Given the description of an element on the screen output the (x, y) to click on. 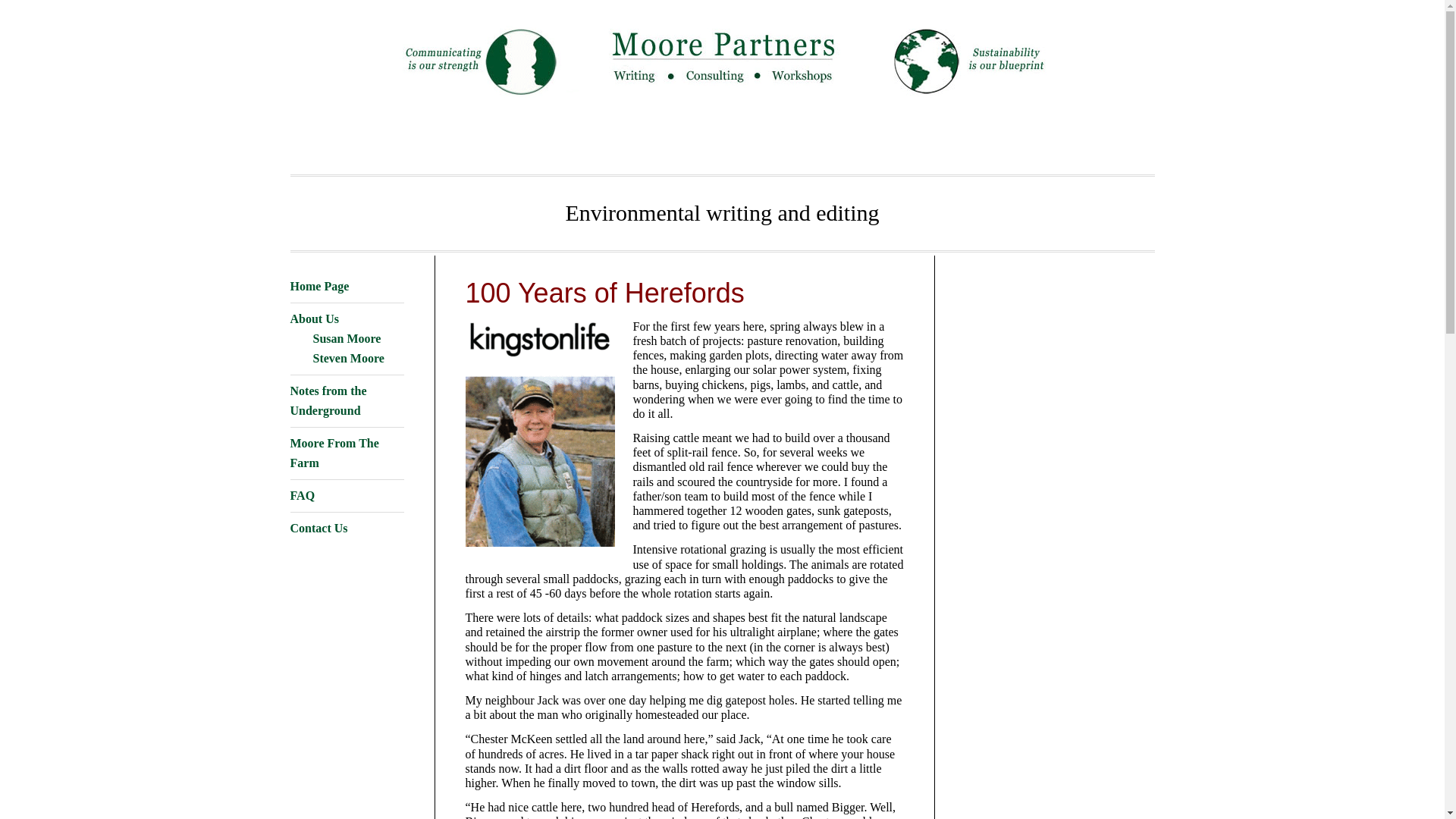
Moore From The Farm (333, 452)
Home Page (319, 286)
About Us (313, 318)
Notes from the Underground (327, 400)
FAQ (301, 495)
Susan Moore (346, 338)
Steven Moore (348, 358)
MOORE PARTNERS (721, 56)
Contact Us (318, 527)
